Given the description of an element on the screen output the (x, y) to click on. 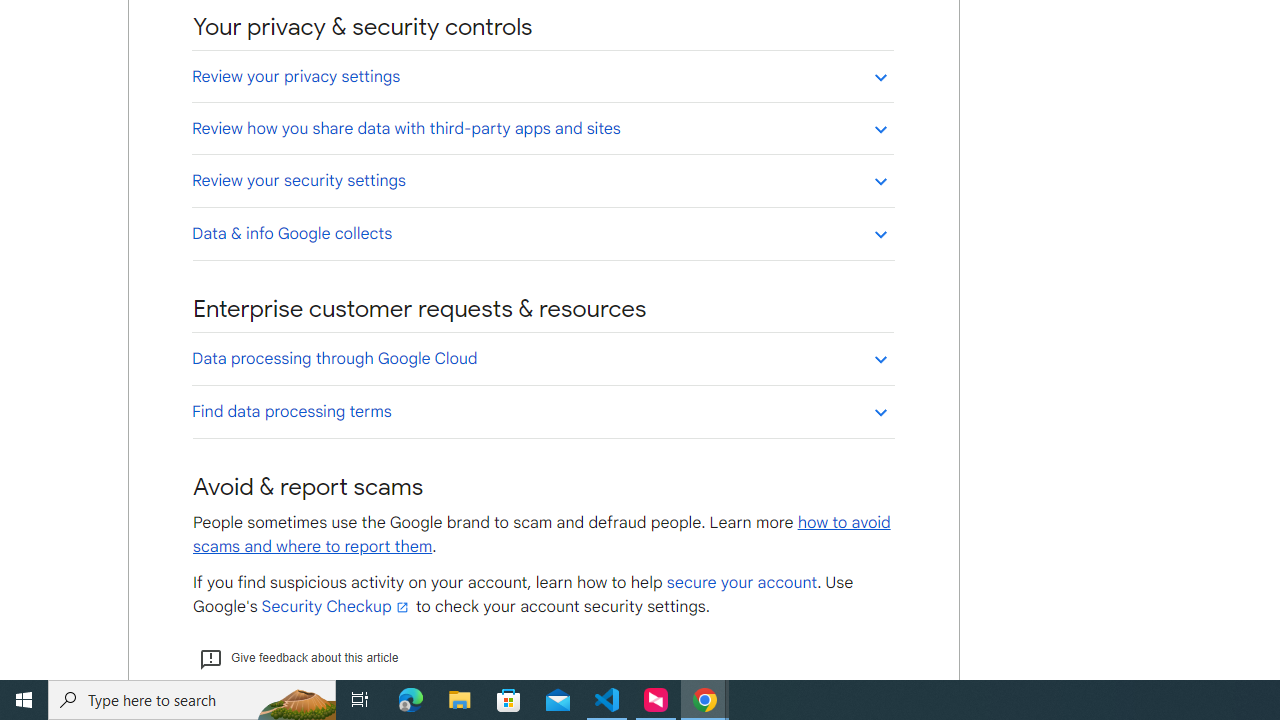
Data & info Google collects (542, 233)
Give feedback about this article (298, 657)
Review how you share data with third-party apps and sites (542, 128)
secure your account (741, 583)
Find data processing terms (542, 411)
Review your privacy settings (542, 75)
Security Checkup (336, 606)
Review your security settings (542, 180)
Data processing through Google Cloud (542, 358)
how to avoid scams and where to report them (541, 534)
